Given the description of an element on the screen output the (x, y) to click on. 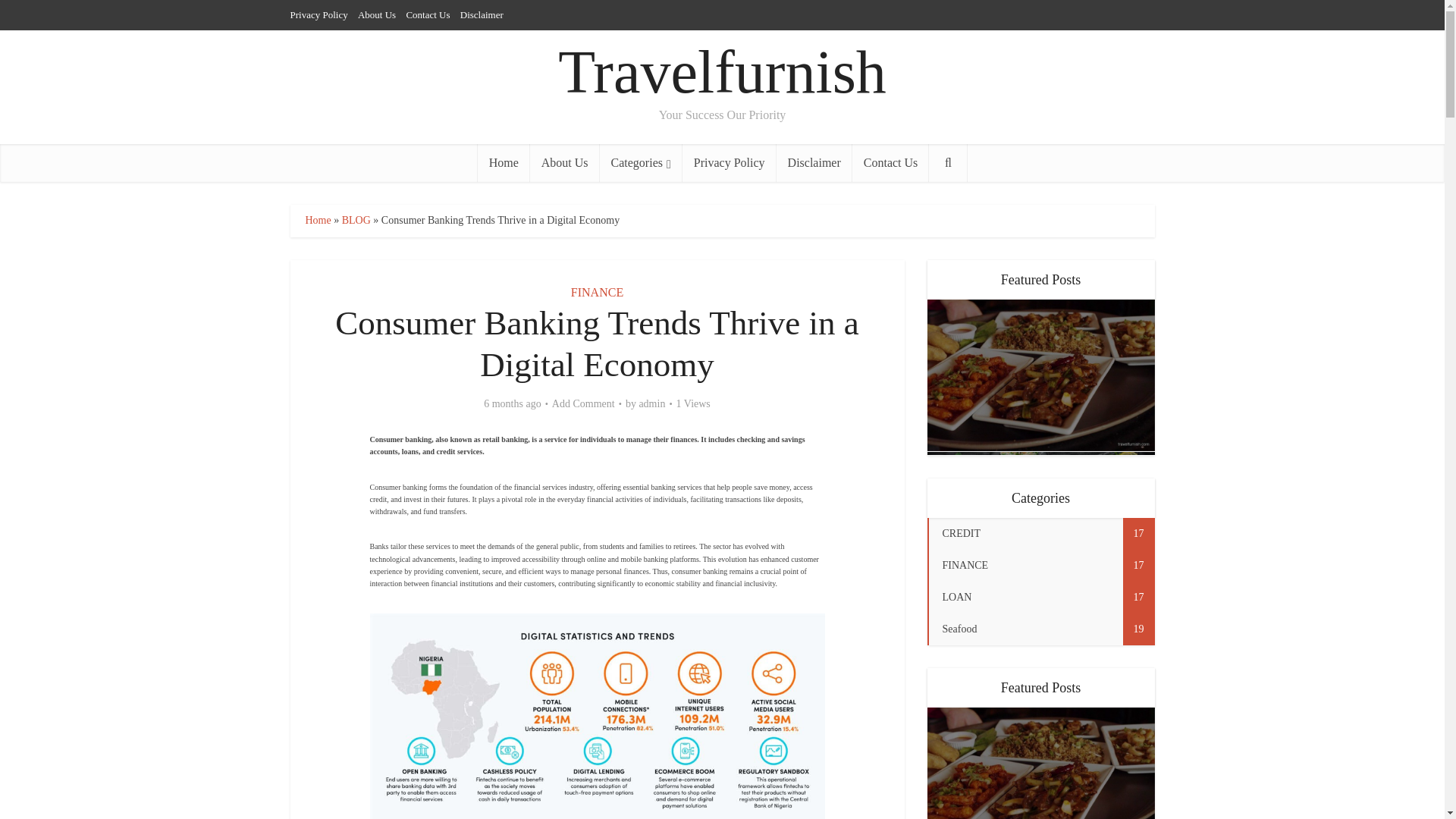
Disclaimer (813, 162)
Privacy Policy (318, 14)
Privacy Policy (729, 162)
Travelfurnish (721, 71)
Contact Us (427, 14)
FINANCE (596, 291)
Disclaimer (481, 14)
About Us (564, 162)
Categories (640, 162)
Home (317, 220)
